Given the description of an element on the screen output the (x, y) to click on. 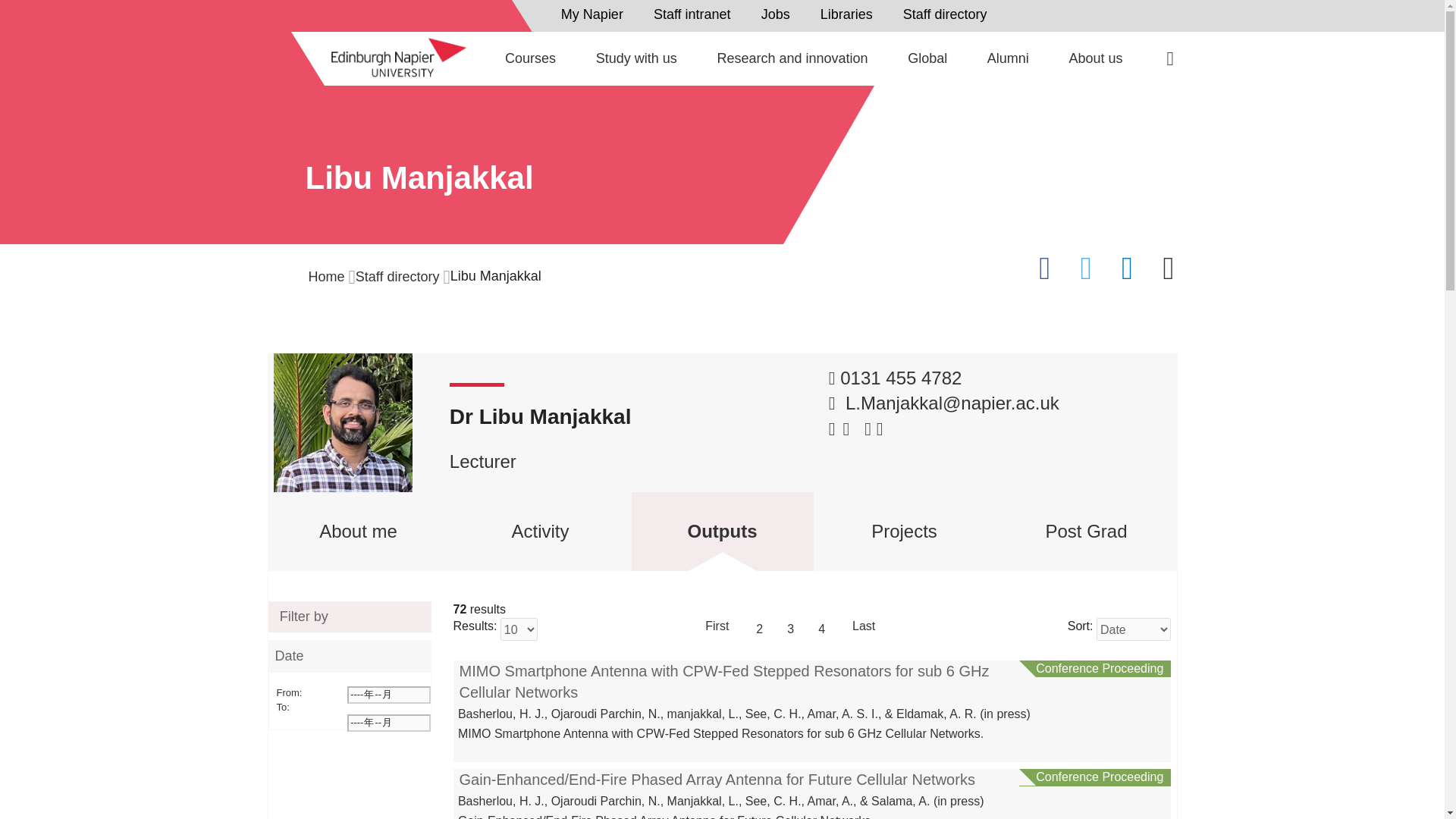
People  (850, 14)
Courses (530, 58)
Study with us (636, 58)
Staff directory (949, 14)
WorkTribe record (879, 428)
My Napier (596, 14)
Staff intranet (695, 14)
Visit website (868, 428)
Twitter feed (846, 428)
Libraries (850, 14)
Jobs (779, 14)
LinkedIn profile (834, 428)
